Given the description of an element on the screen output the (x, y) to click on. 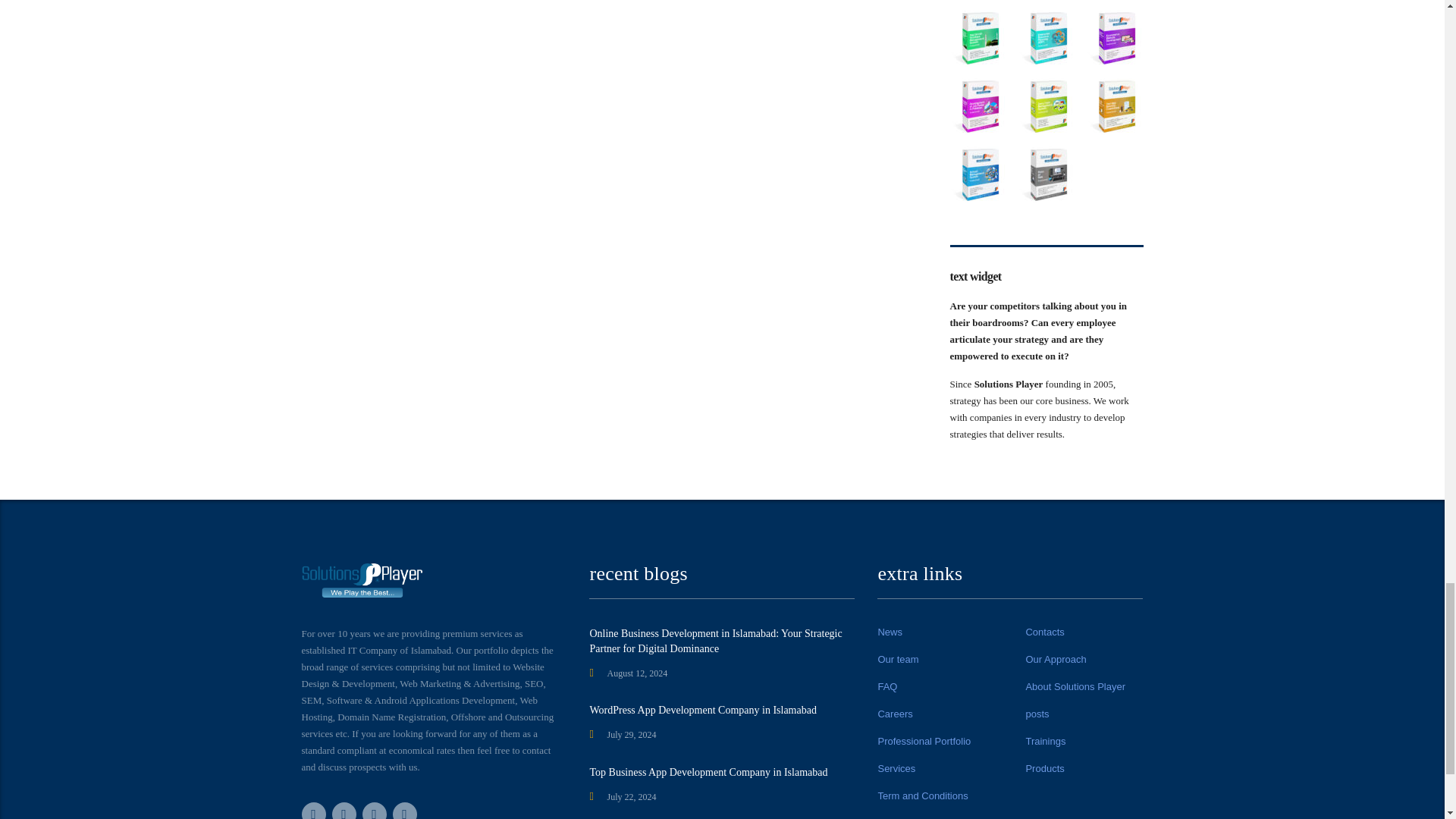
dfms (1045, 106)
school management software (977, 174)
Importance of ERP in Business (1045, 37)
Hajj Umrah Vouchers Management System (977, 37)
pos (1045, 174)
Pakistan taxi app (1114, 106)
e-commerce (1114, 37)
djp (977, 106)
